Given the description of an element on the screen output the (x, y) to click on. 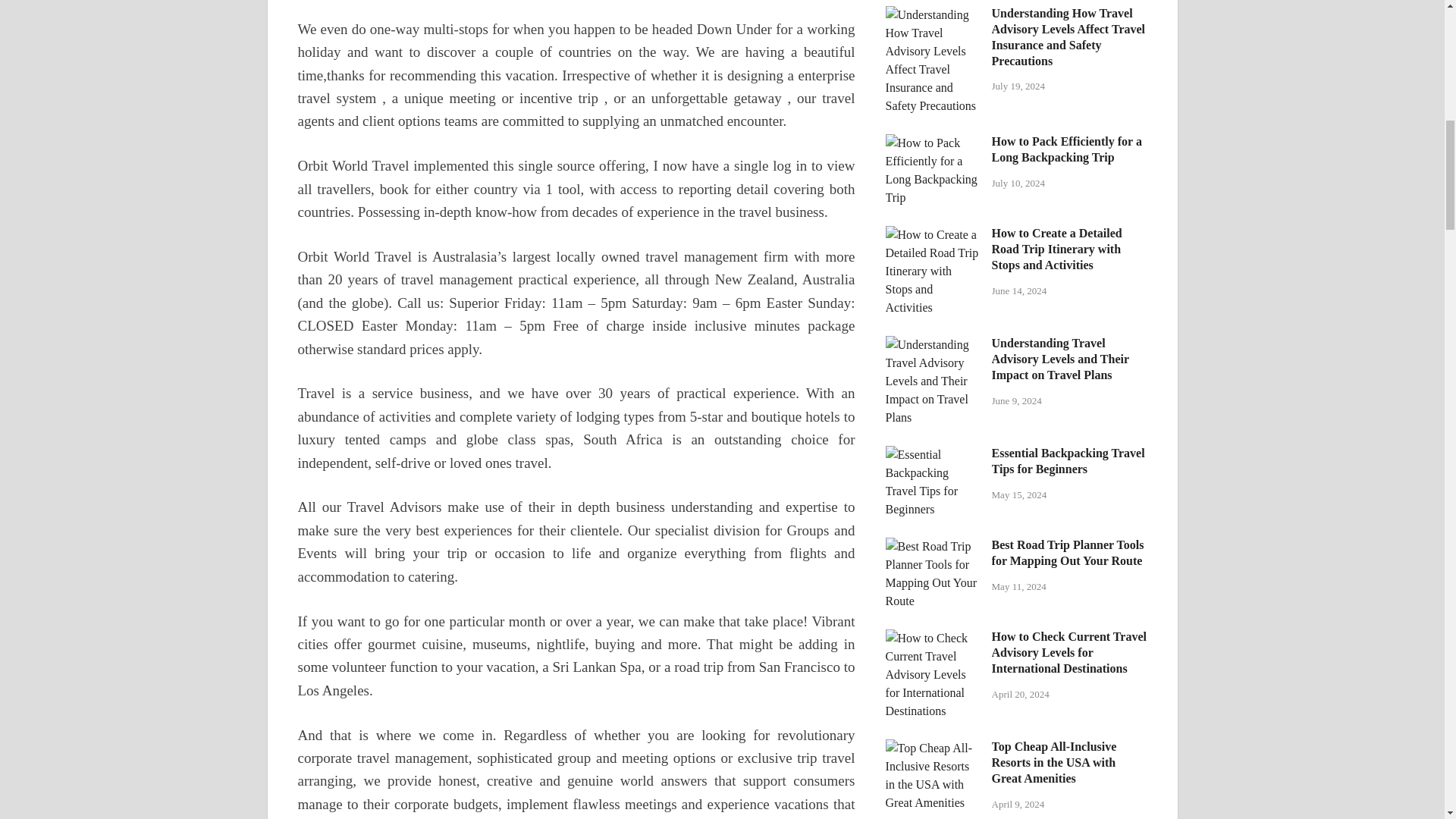
Essential Backpacking Travel Tips for Beginners (932, 454)
How to Pack Efficiently for a Long Backpacking Trip (932, 142)
Best Road Trip Planner Tools for Mapping Out Your Route (932, 545)
